Given the description of an element on the screen output the (x, y) to click on. 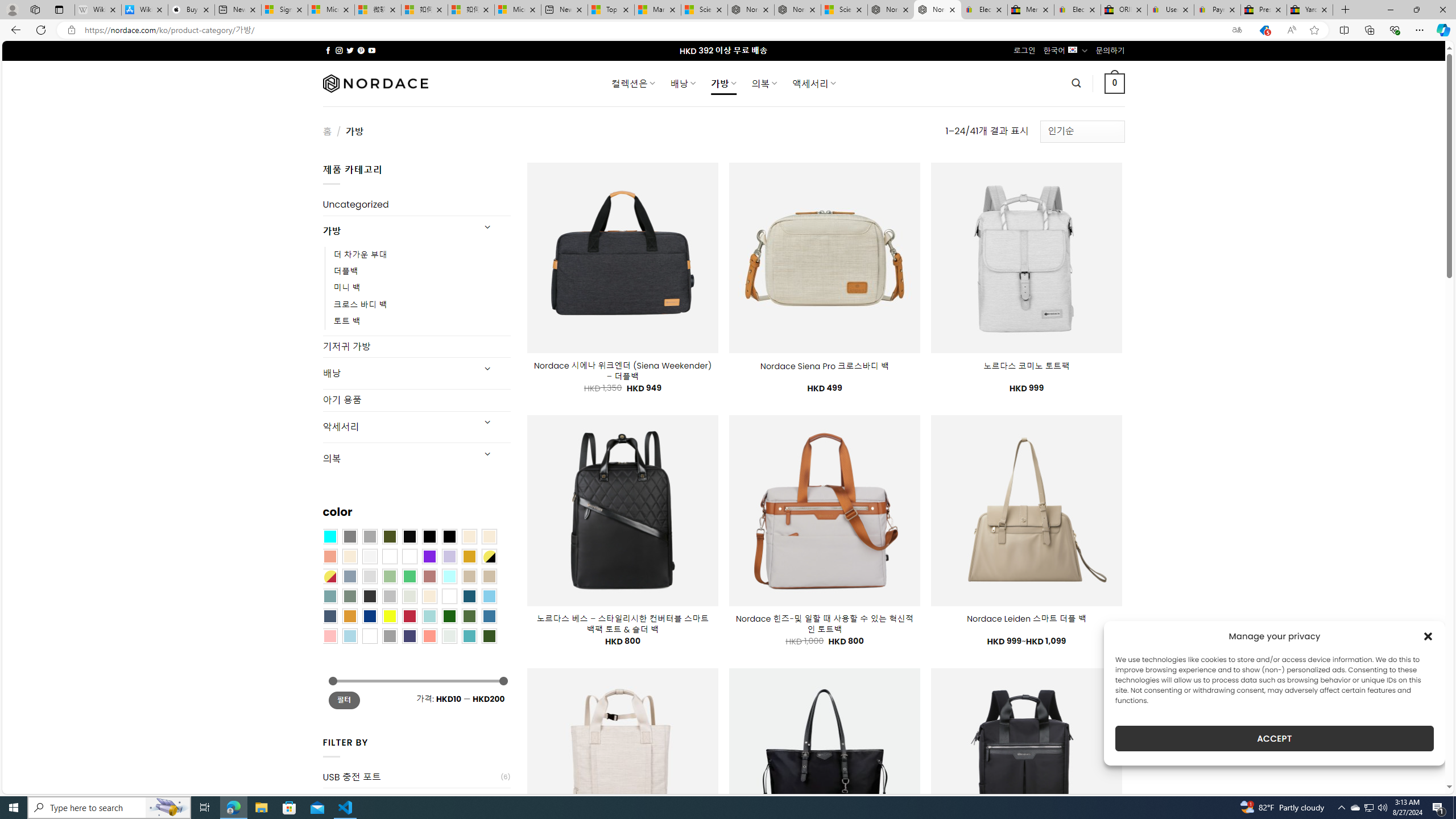
ACCEPT (1274, 738)
Follow on Instagram (338, 50)
Sign in to your Microsoft account (284, 9)
